Given the description of an element on the screen output the (x, y) to click on. 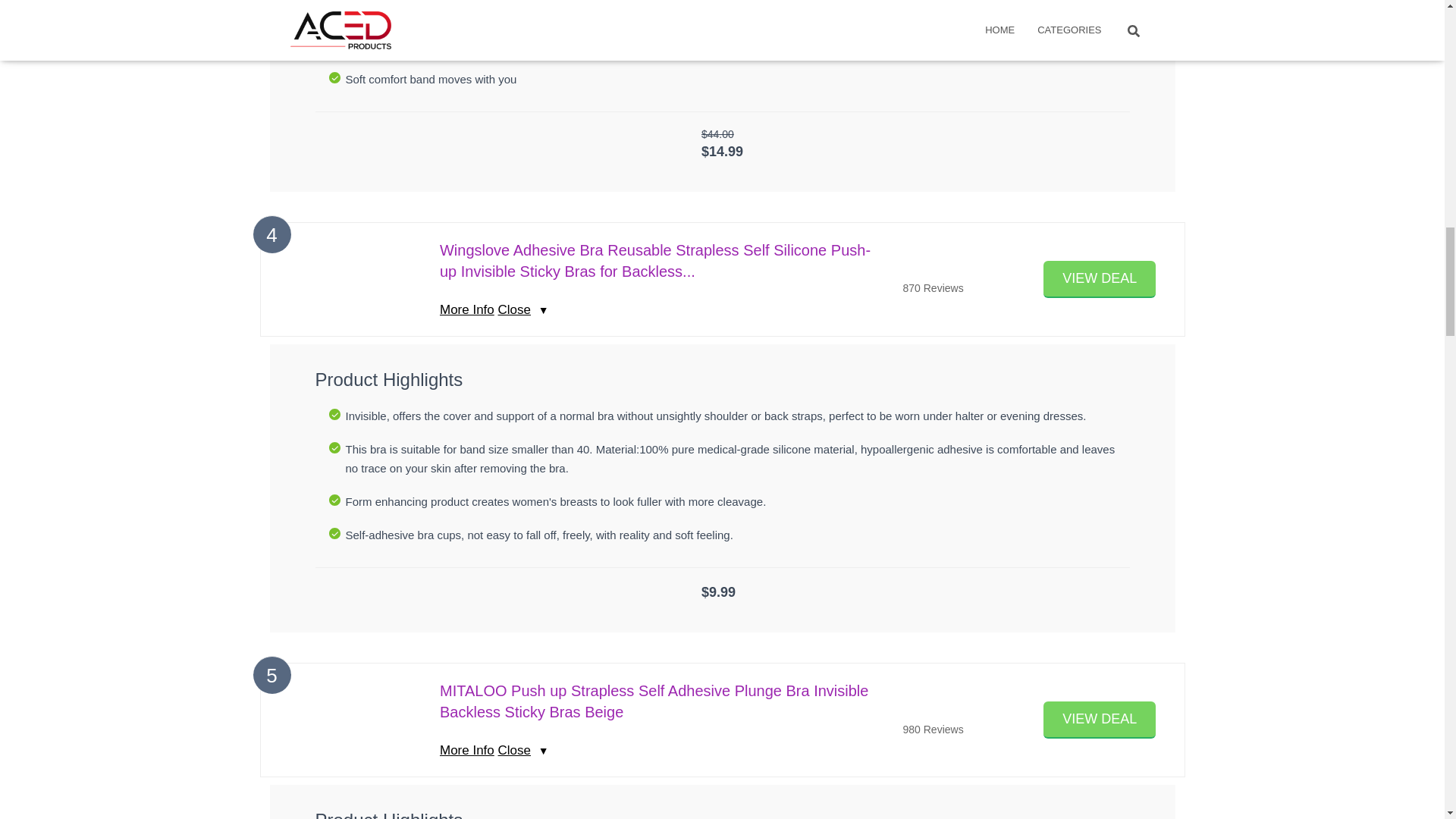
VIEW DEAL (1099, 719)
VIEW DEAL (1099, 279)
Reviews on Amazon (940, 269)
Amazon Prime (721, 168)
